Given the description of an element on the screen output the (x, y) to click on. 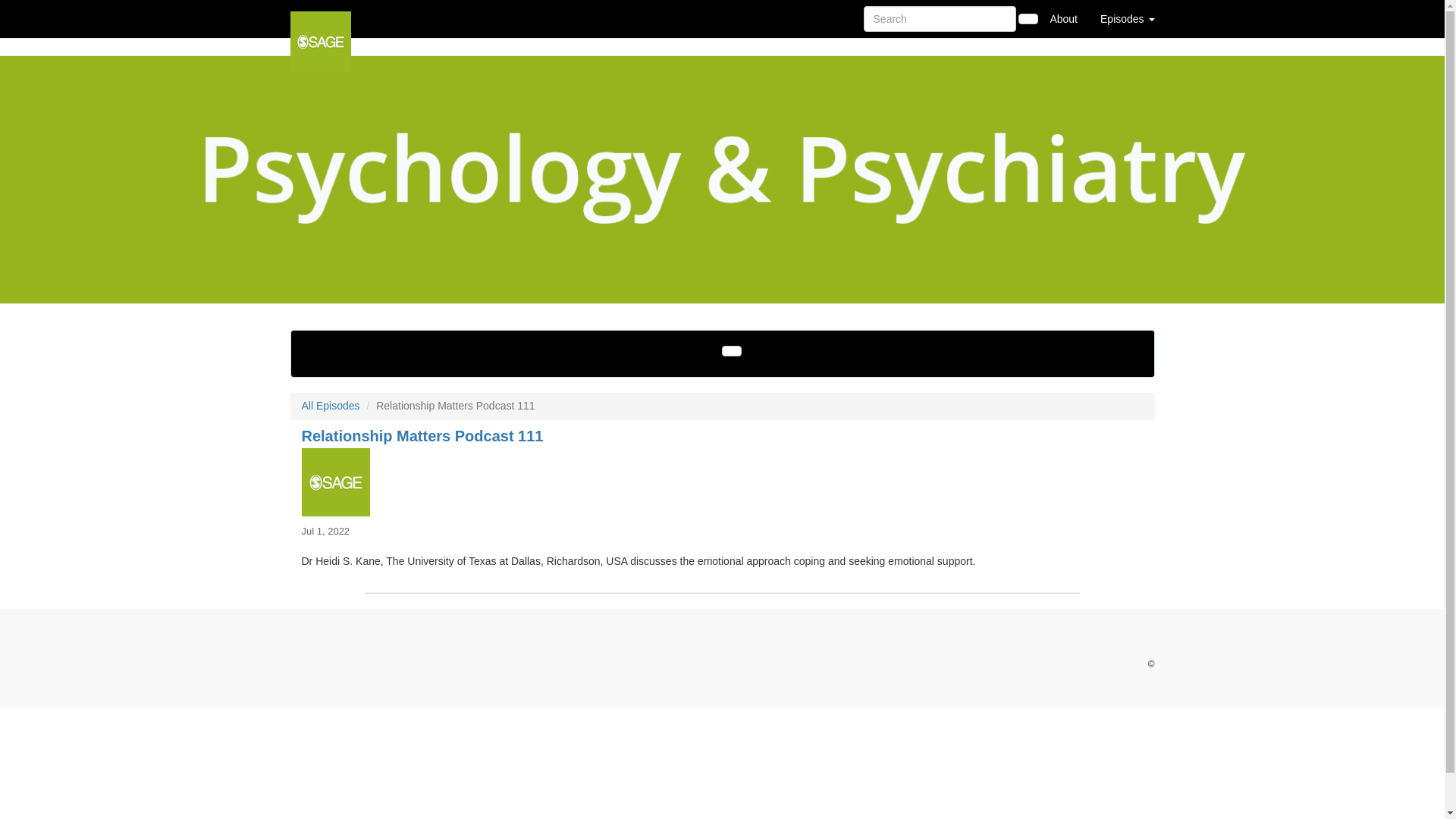
About (1063, 18)
Relationship Matters Podcast 111 (721, 481)
Home Page (320, 18)
Episodes (1127, 18)
